Given the description of an element on the screen output the (x, y) to click on. 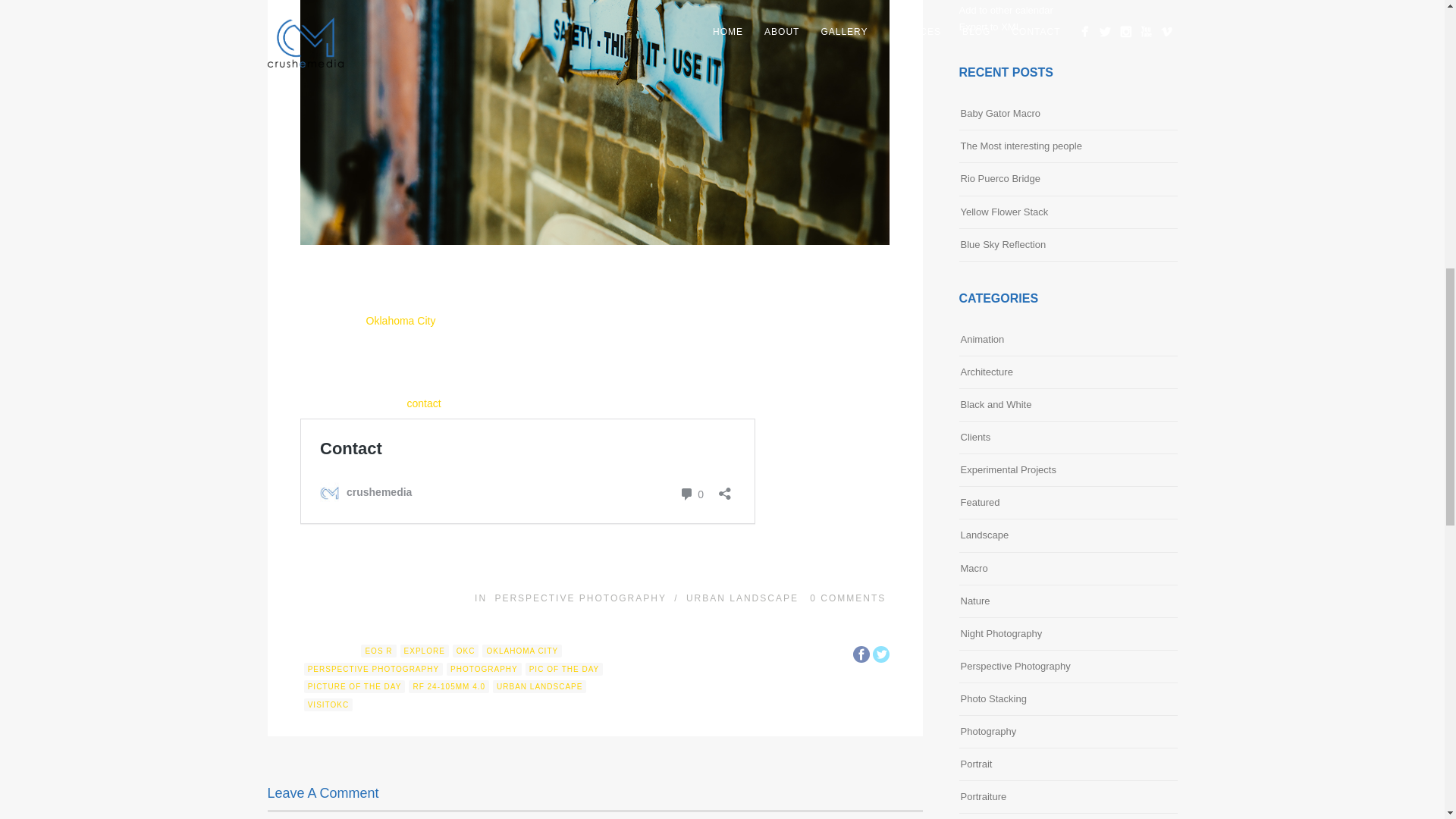
Oklahoma City (400, 320)
Facebook (861, 654)
0 COMMENTS (847, 597)
EOS R (378, 650)
Subscribe to this calendar in another plain-text calendar (1005, 9)
VISITOKC (328, 704)
contact (424, 403)
PERSPECTIVE PHOTOGRAPHY (580, 597)
URBAN LANDSCAPE (539, 686)
PERSPECTIVE PHOTOGRAPHY (373, 668)
RF 24-105MM 4.0 (449, 686)
PHOTOGRAPHY (483, 668)
OKLAHOMA CITY (521, 650)
PICTURE OF THE DAY (355, 686)
OKC (465, 650)
